Given the description of an element on the screen output the (x, y) to click on. 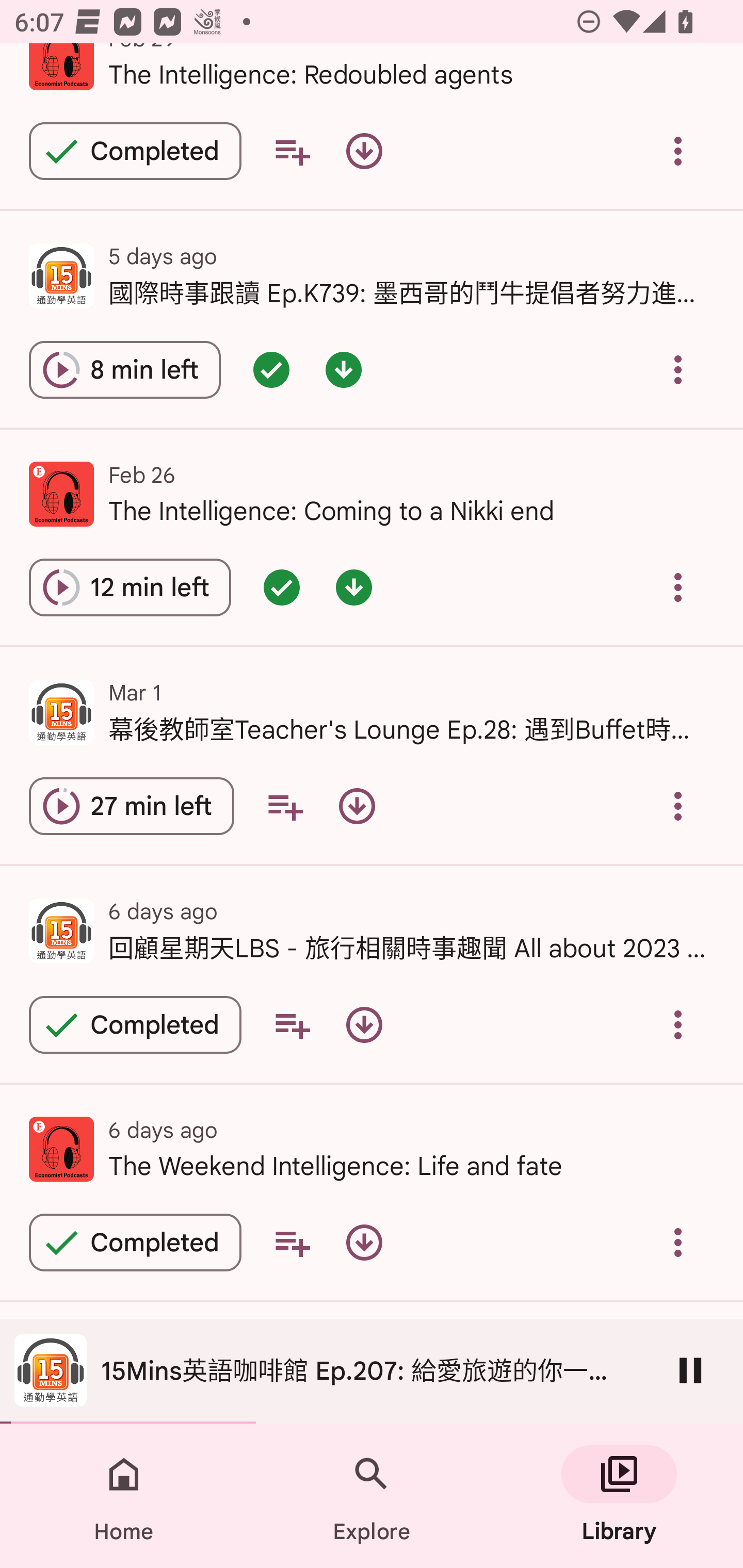
Add to your queue (291, 151)
Download episode (364, 151)
Overflow menu (677, 151)
Episode queued - double tap for options (271, 369)
Episode downloaded - double tap for options (343, 369)
Overflow menu (677, 369)
Episode queued - double tap for options (281, 587)
Episode downloaded - double tap for options (354, 587)
Overflow menu (677, 587)
Add to your queue (284, 806)
Download episode (356, 806)
Overflow menu (677, 806)
Add to your queue (291, 1024)
Download episode (364, 1024)
Overflow menu (677, 1024)
Add to your queue (291, 1242)
Download episode (364, 1242)
Overflow menu (677, 1242)
Pause (690, 1370)
Home (123, 1495)
Explore (371, 1495)
